Given the description of an element on the screen output the (x, y) to click on. 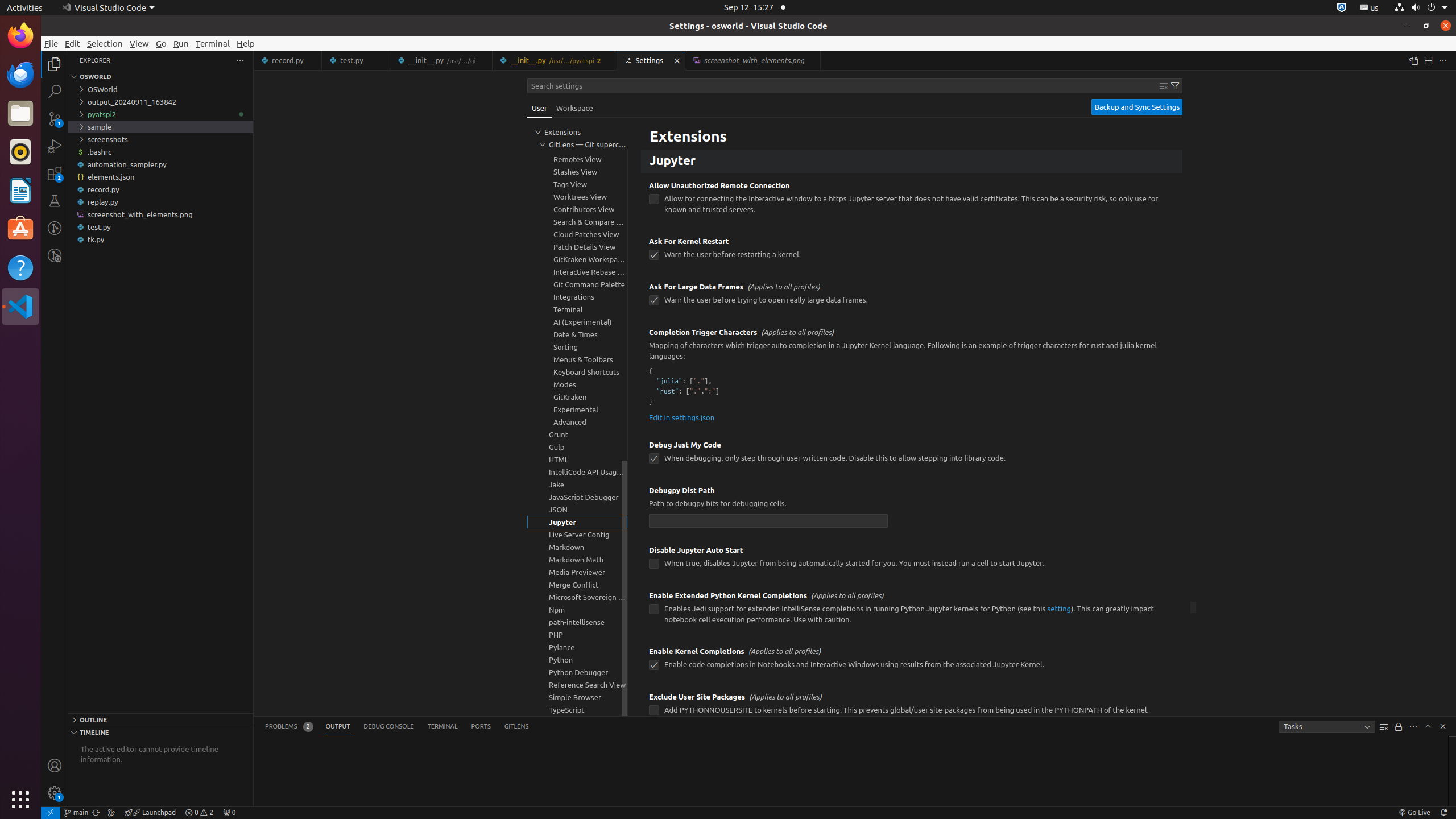
Advanced, group Element type: tree-item (577, 421)
Tasks Element type: menu-item (1326, 726)
Explorer Section: osworld Element type: push-button (160, 76)
Reference Search View, group Element type: tree-item (577, 684)
Edit Element type: push-button (72, 43)
